Given the description of an element on the screen output the (x, y) to click on. 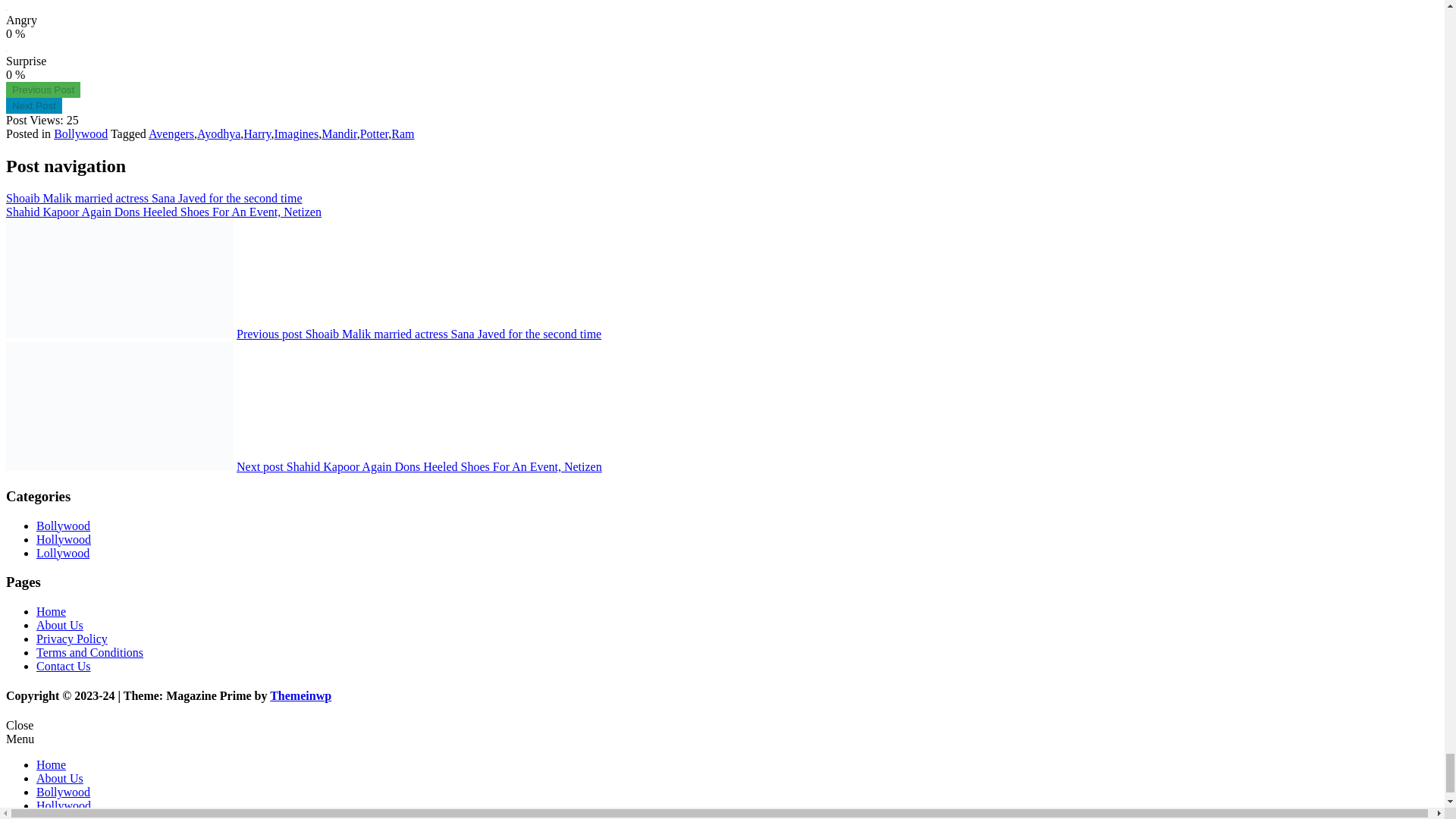
Shoaib Malik married actress Sana Javed for the second time (42, 88)
Shahid Kapoor Again Dons Heeled Shoes For An Event, Netizen (33, 104)
